Given the description of an element on the screen output the (x, y) to click on. 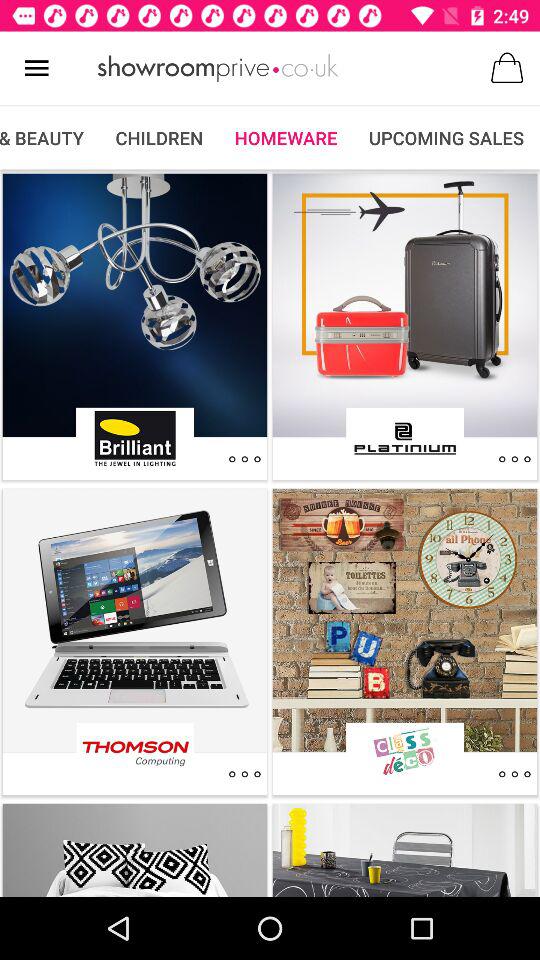
more info (244, 459)
